Given the description of an element on the screen output the (x, y) to click on. 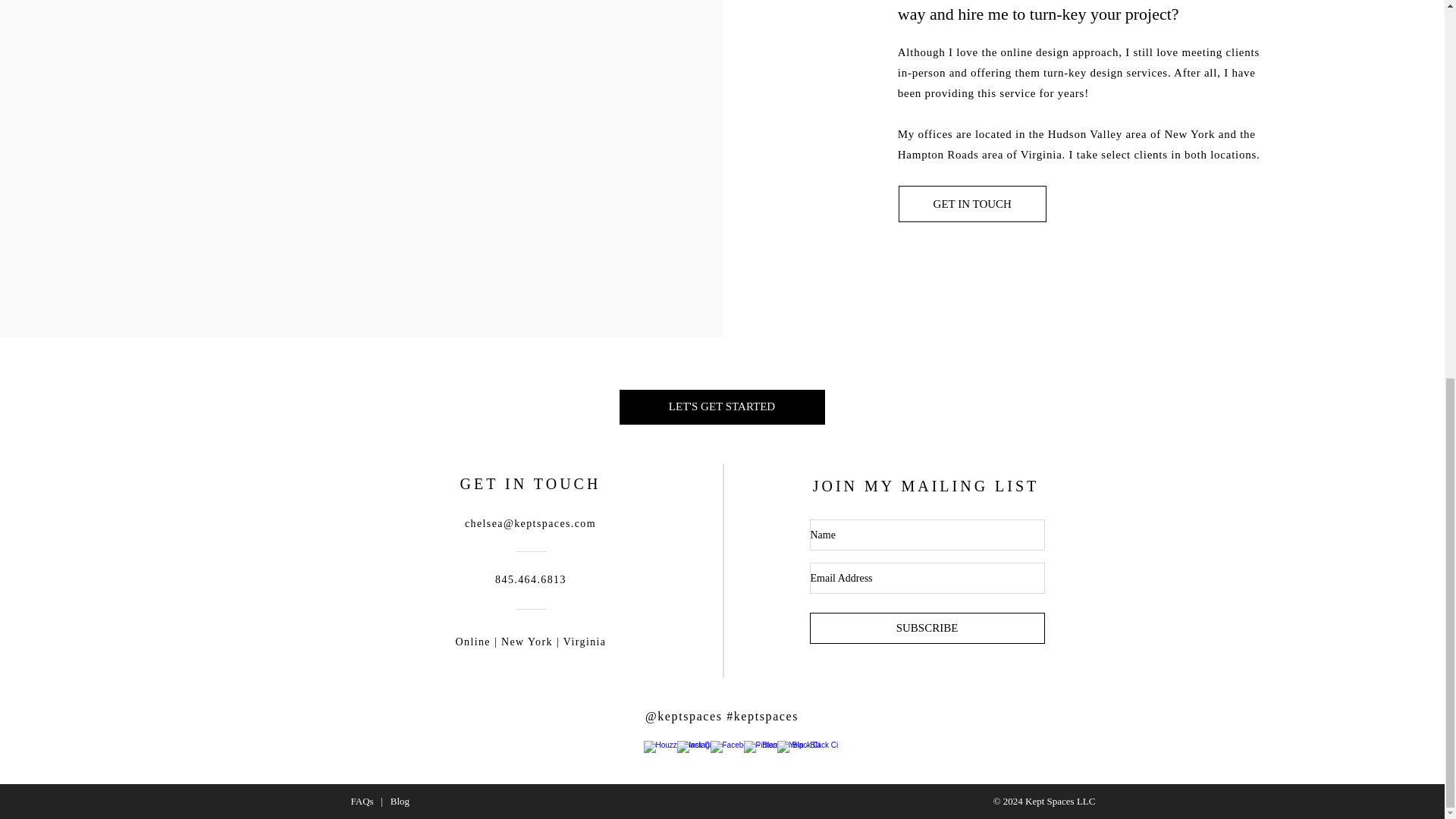
GET IN TOUCH (972, 203)
SUBSCRIBE (927, 627)
FAQs (361, 800)
Blog (399, 800)
845.464.6813 (530, 579)
LET'S GET STARTED (721, 407)
